Given the description of an element on the screen output the (x, y) to click on. 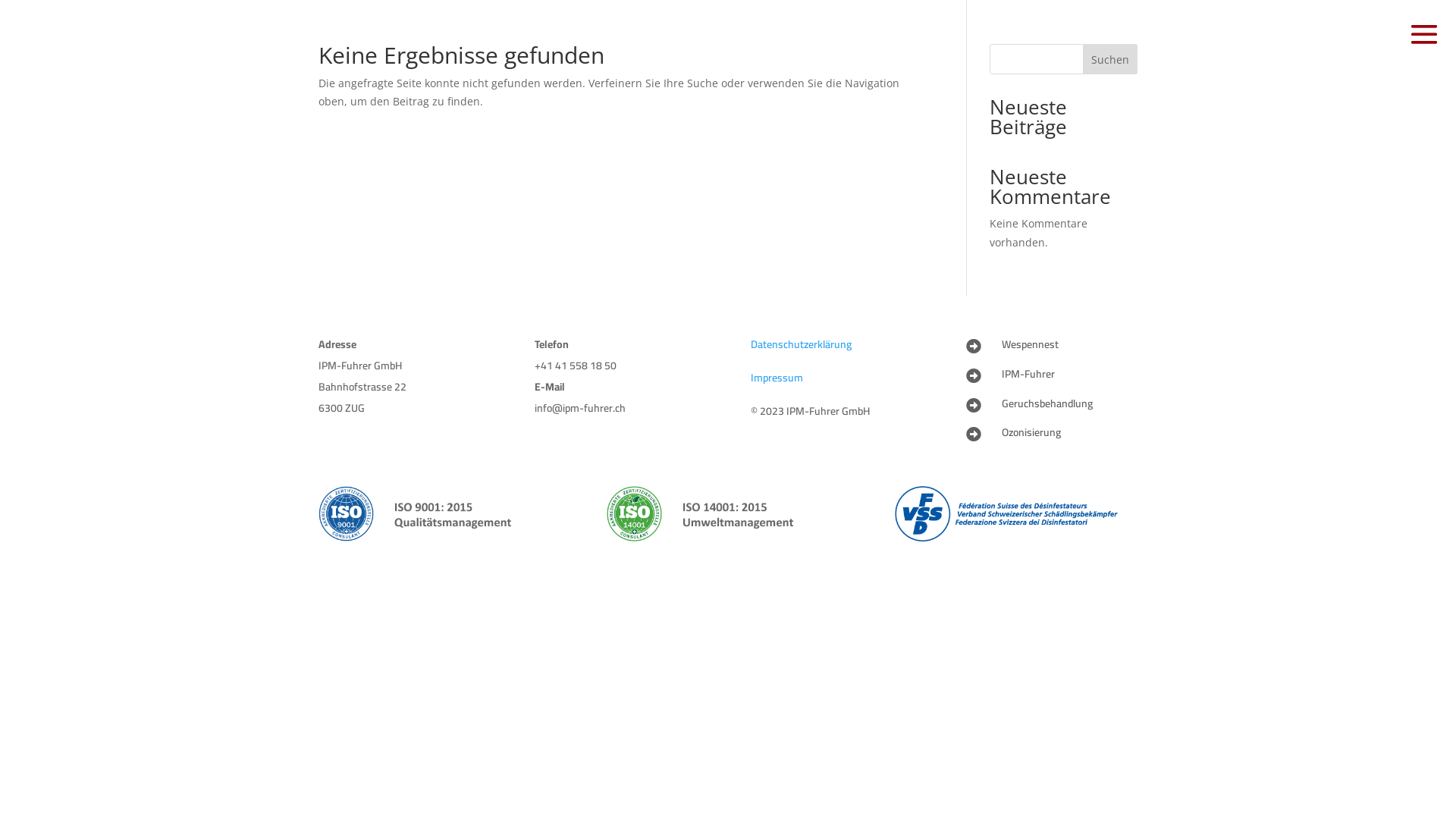
ISO_14001_umweltmanagement Element type: hover (727, 513)
Suchen Element type: text (1109, 58)
fsd_vss_logo_500 Element type: hover (1015, 513)
Impressum Element type: text (776, 377)
ISO_9001_qualitaetsmanagement Element type: hover (439, 513)
